Given the description of an element on the screen output the (x, y) to click on. 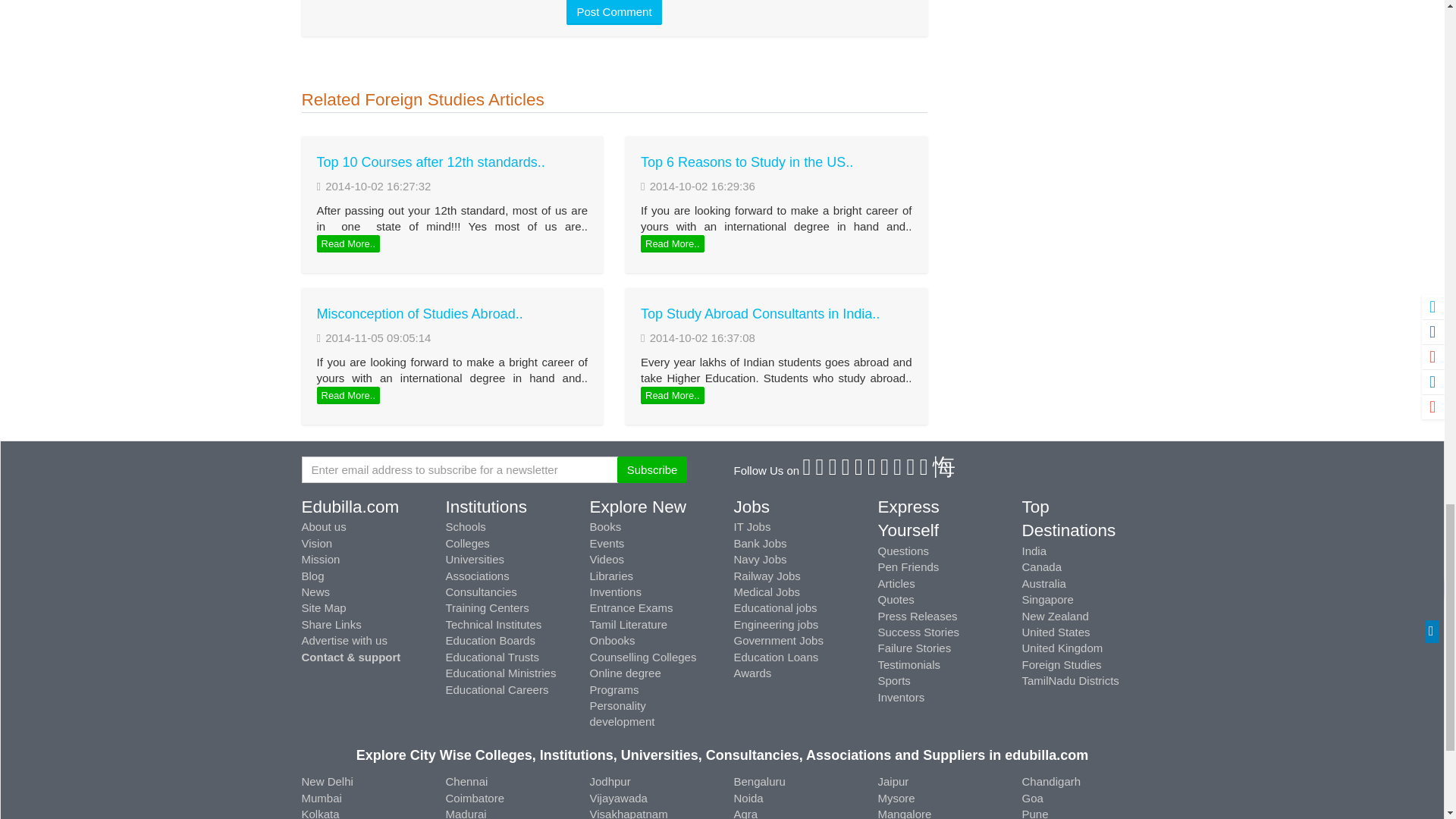
Top Study Abroad Consultants in India.. (759, 313)
Subscribe (652, 469)
Read More.. (672, 244)
Misconception of Studies Abroad (419, 313)
Top 10 Courses after 12th standards.. (430, 161)
Top Study Abroad Consultants in India (759, 313)
Subscribe (652, 469)
flickr (884, 470)
Read More.. (672, 395)
Tumblr (872, 470)
Read More.. (348, 395)
Post Comment (613, 12)
Linkedin (846, 470)
Misconception of Studies Abroad.. (419, 313)
Facebook (807, 470)
